Given the description of an element on the screen output the (x, y) to click on. 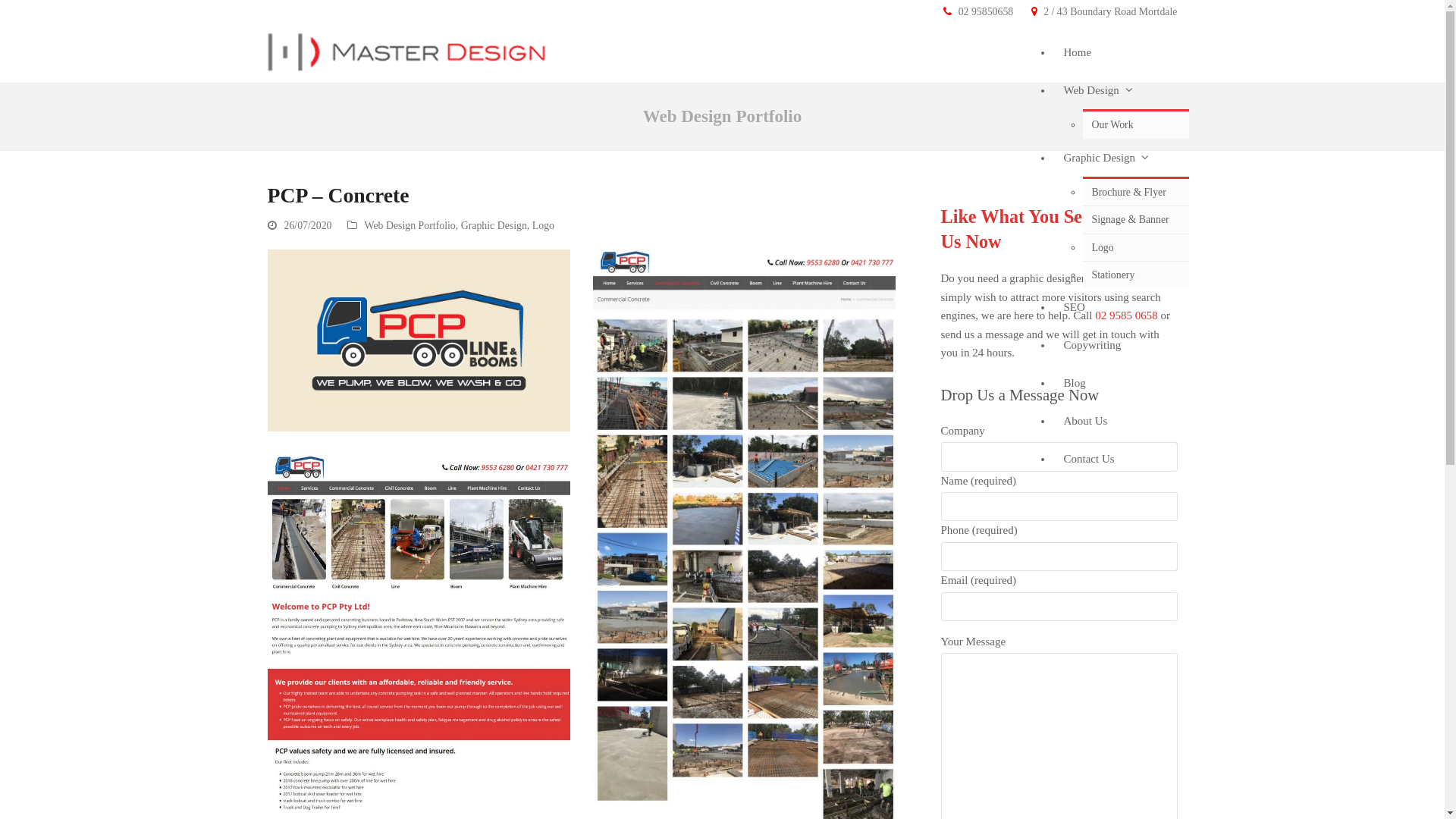
pcp Element type: hover (417, 339)
Our Work Element type: text (1135, 124)
Home Element type: text (1120, 52)
SEO Element type: text (1120, 307)
Copywriting Element type: text (1120, 345)
Graphic Design Element type: text (494, 225)
Stationery Element type: text (1135, 274)
Logo Element type: text (1135, 247)
Signage & Banner Element type: text (1135, 219)
Blog Element type: text (1120, 382)
About Us Element type: text (1120, 420)
Contact Us Element type: text (1120, 458)
2 / 43 Boundary Road Mortdale Element type: text (1109, 11)
Web Design Portfolio Element type: text (409, 225)
Web Design Element type: text (1120, 90)
02 9585 0658 Element type: text (1126, 315)
Graphic Design Element type: text (1120, 157)
Logo Element type: text (543, 225)
Brochure & Flyer Element type: text (1135, 192)
02 95850658 Element type: text (985, 11)
